Given the description of an element on the screen output the (x, y) to click on. 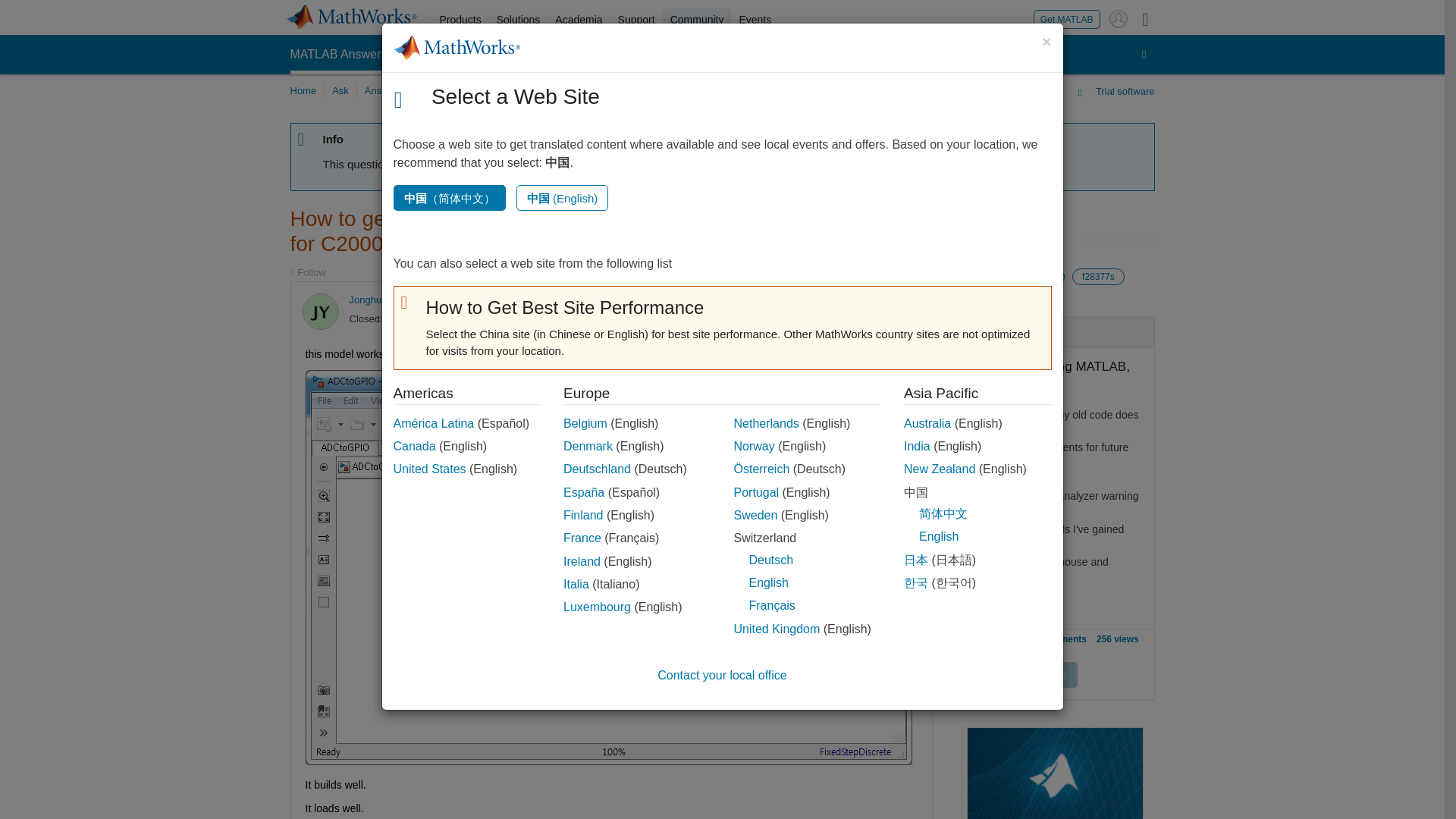
Community (697, 19)
Academia (578, 19)
Get MATLAB (1066, 18)
Solutions (518, 19)
Sign in to follow activity (306, 272)
Support (636, 19)
Sign in to vote for questions and answers (855, 300)
Events (754, 19)
Sign In to Your MathWorks Account (1117, 18)
code composer studio v6 (1009, 276)
Direct link to this question (906, 300)
Products (460, 19)
